Given the description of an element on the screen output the (x, y) to click on. 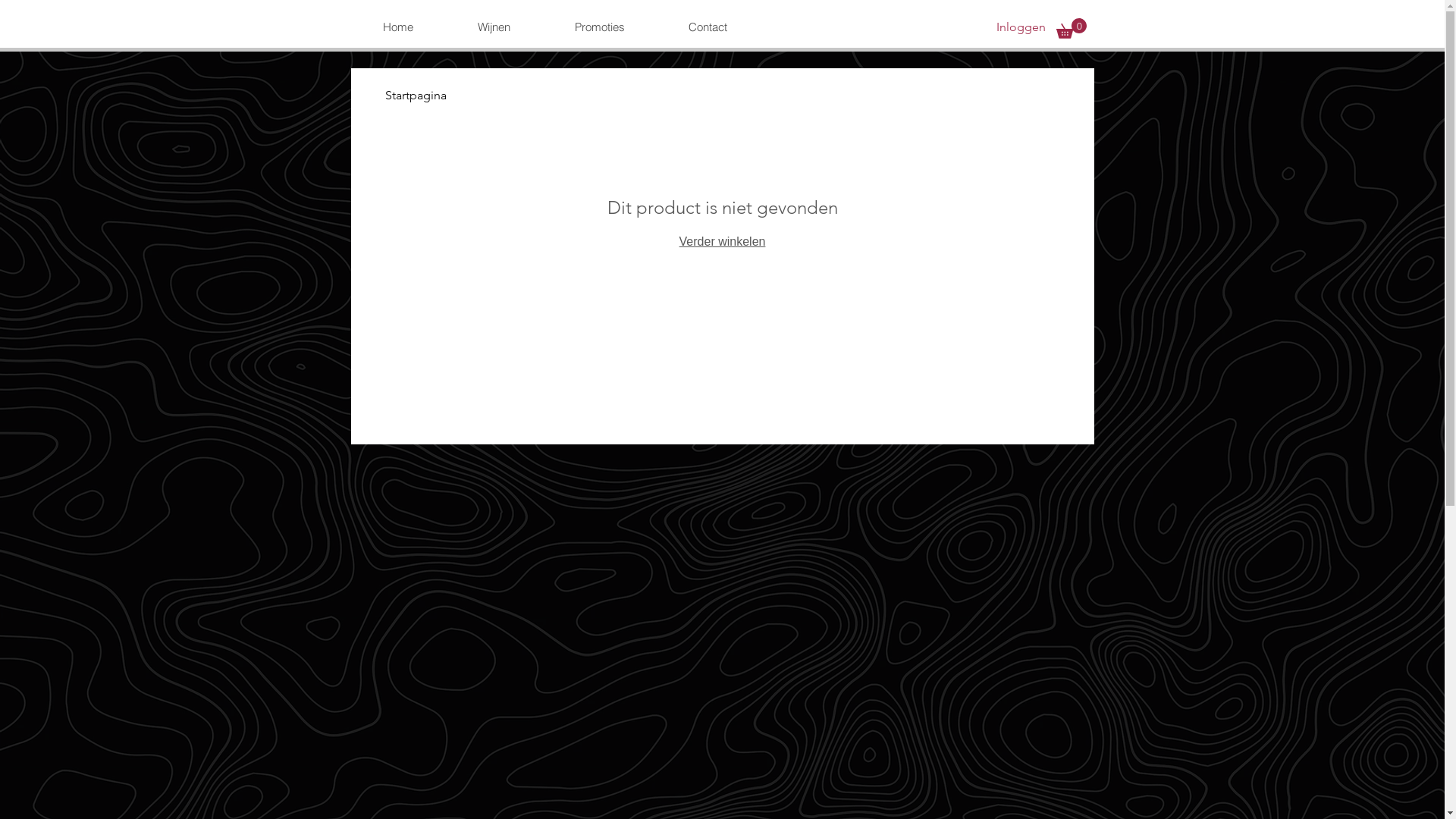
Promoties Element type: text (598, 27)
Inloggen Element type: text (1020, 27)
Contact Element type: text (707, 27)
0 Element type: text (1070, 28)
Home Element type: text (397, 27)
Verder winkelen Element type: text (722, 241)
Startpagina Element type: text (415, 94)
